Given the description of an element on the screen output the (x, y) to click on. 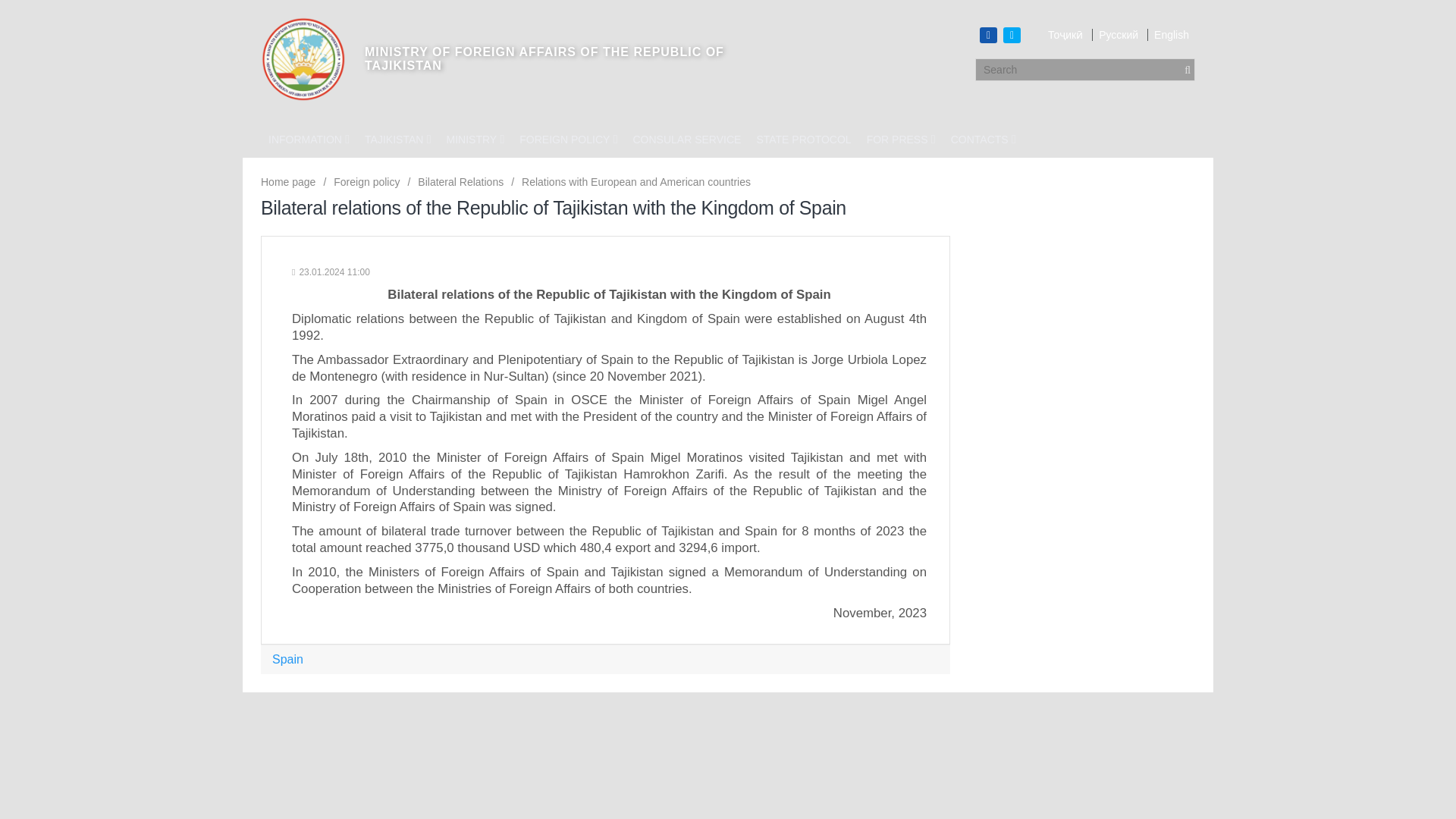
TAJIKISTAN (397, 139)
Tajikistan (397, 139)
FOREIGN POLICY (568, 139)
Information (308, 139)
INFORMATION (308, 139)
MINISTRY OF FOREIGN AFFAIRS OF THE REPUBLIC OF TAJIKISTAN (494, 58)
Ministry (475, 139)
MINISTRY (475, 139)
English (1169, 34)
English (1169, 34)
